Given the description of an element on the screen output the (x, y) to click on. 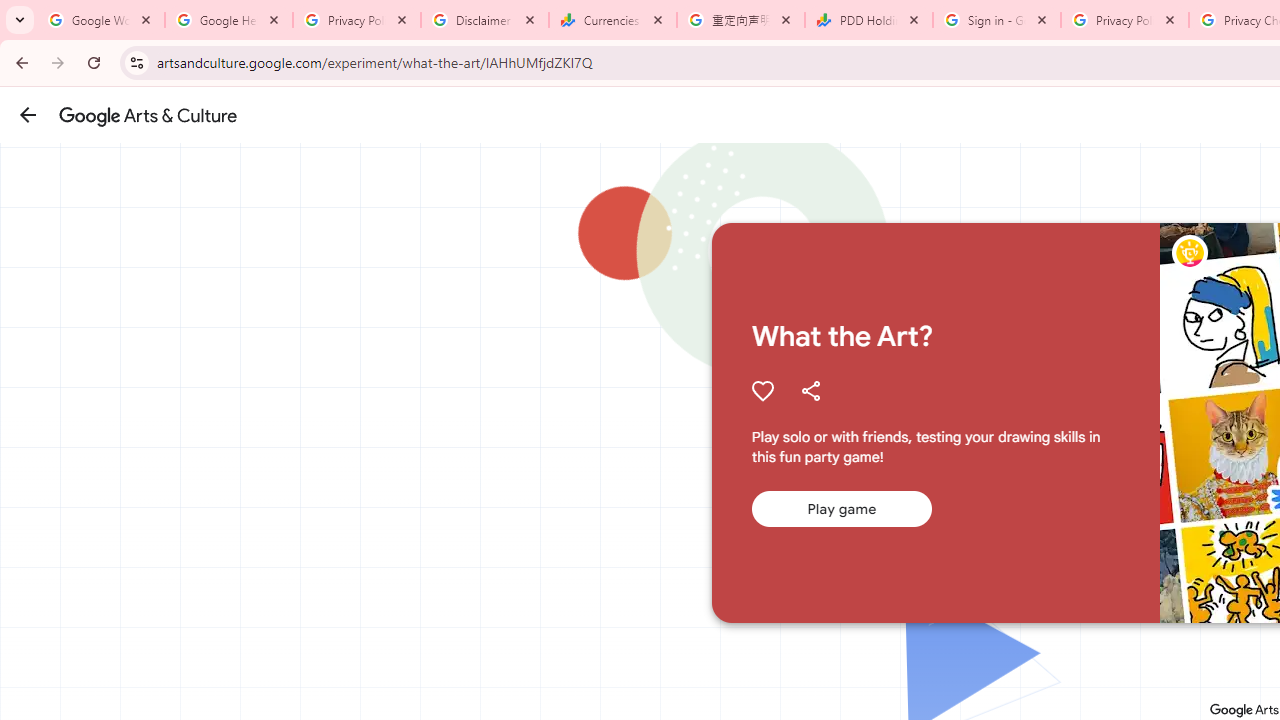
Authenticate to favorite this asset. (762, 390)
PDD Holdings Inc - ADR (PDD) Price & News - Google Finance (869, 20)
Play game (841, 509)
Share "What the Art?" (809, 390)
Google Workspace Admin Community (101, 20)
